Given the description of an element on the screen output the (x, y) to click on. 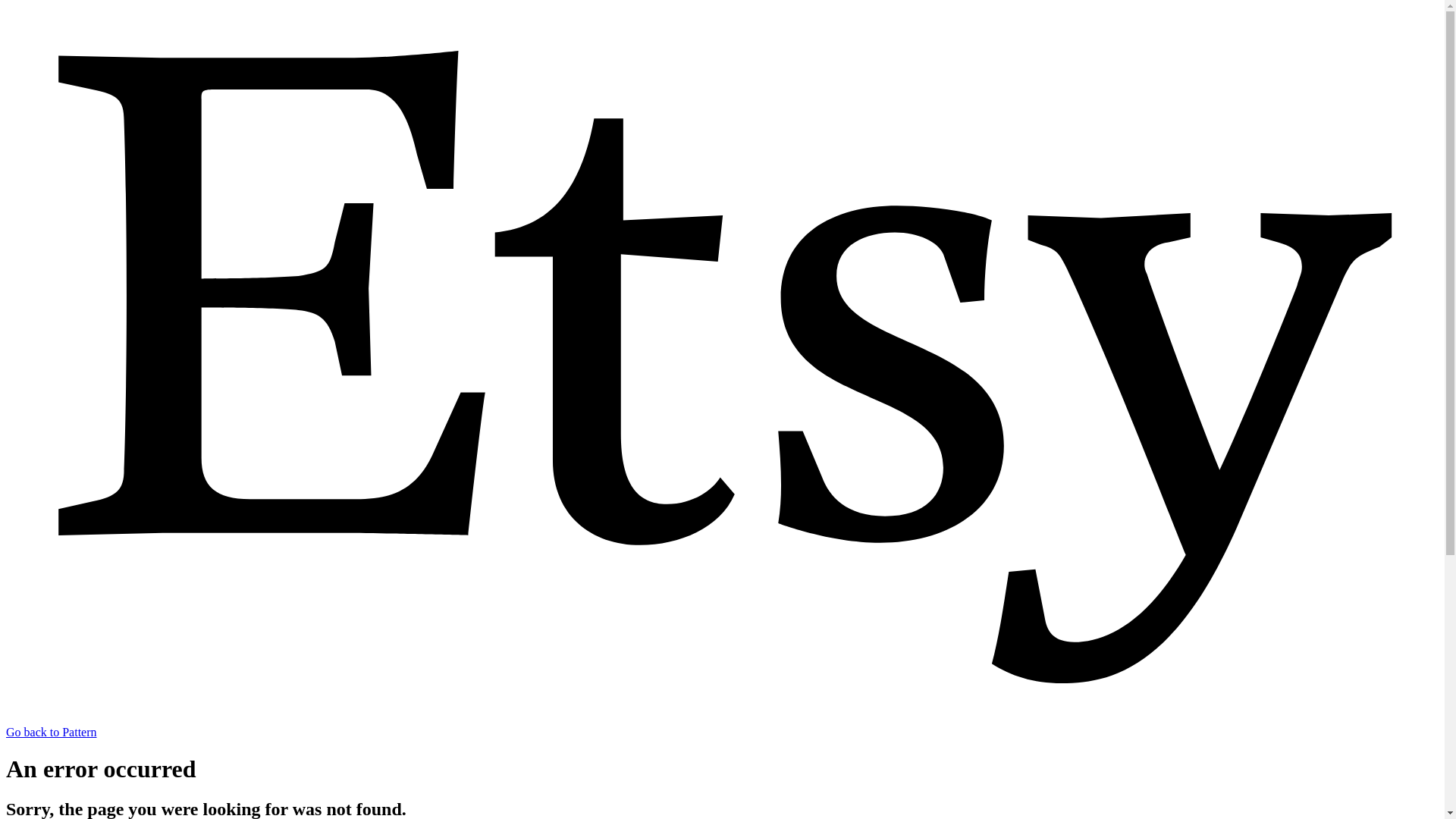
Go back to Pattern Element type: text (722, 724)
